Given the description of an element on the screen output the (x, y) to click on. 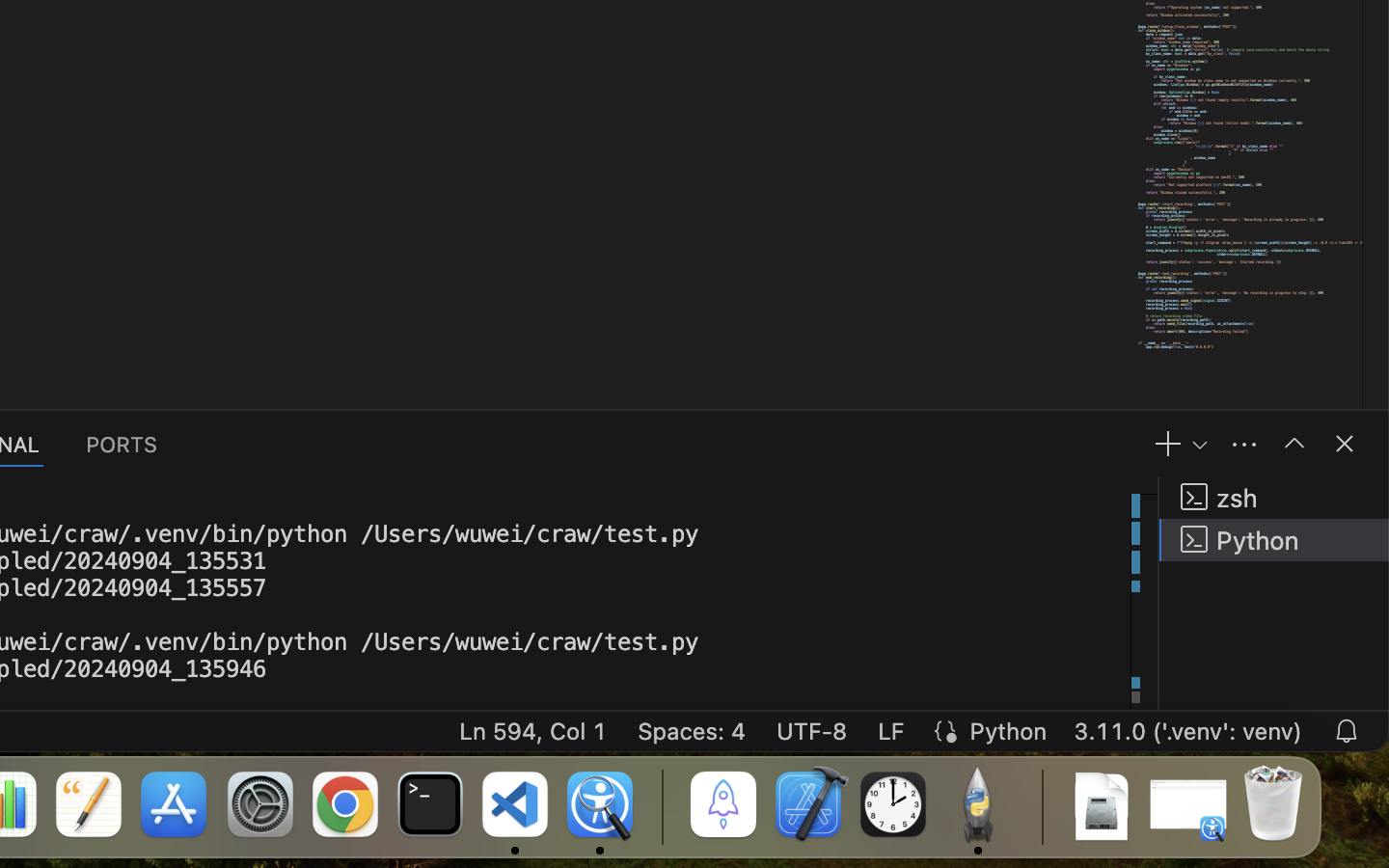
 Element type: AXButton (1344, 443)
